Given the description of an element on the screen output the (x, y) to click on. 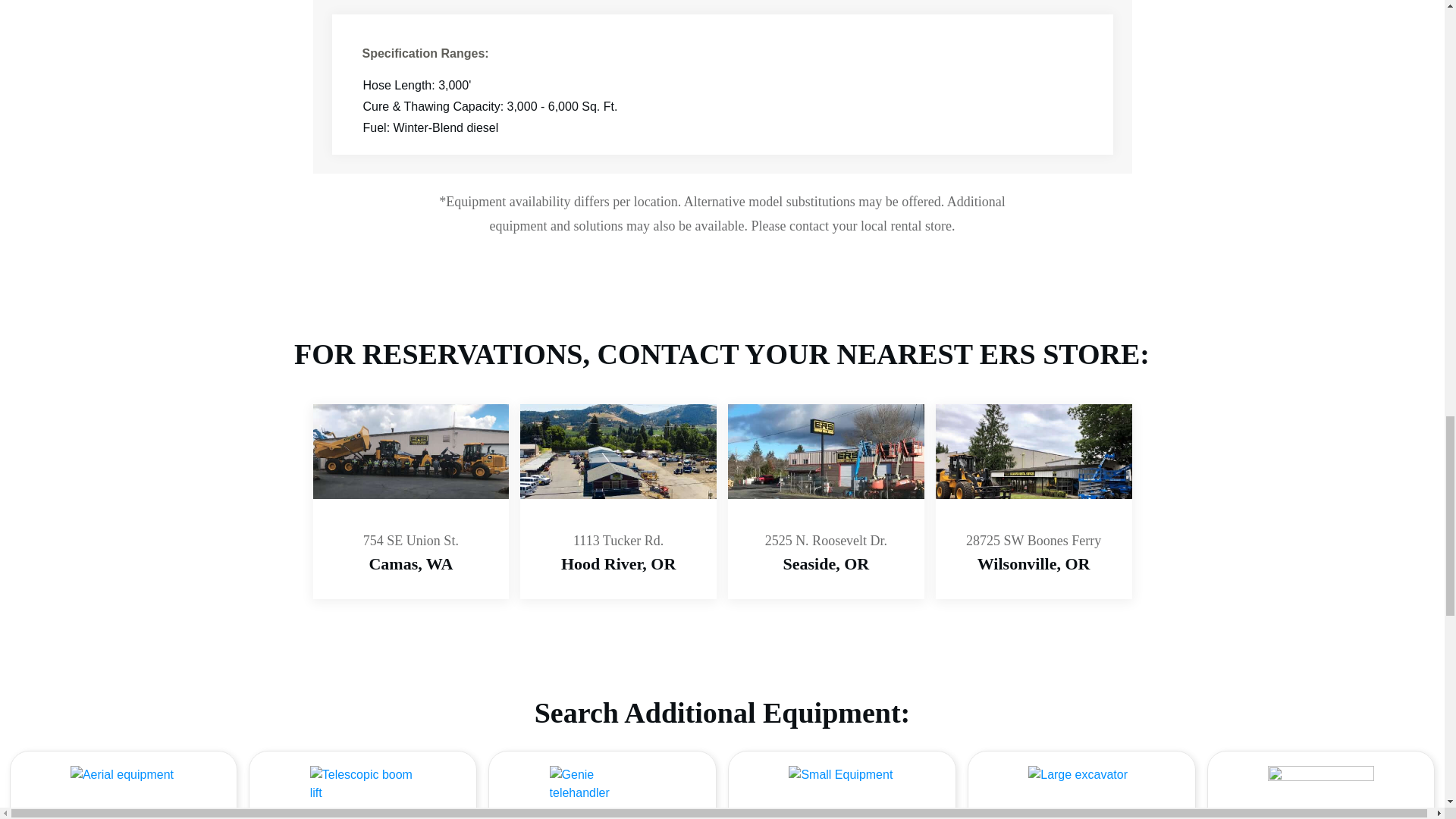
Telescopic boom lift icon real (363, 792)
VEHICLES (1321, 785)
MATERIAL HANDLING (617, 512)
LARGE DIRT (1034, 512)
Genie telehandler icon real (601, 785)
large excavator icon real (1081, 785)
